Given the description of an element on the screen output the (x, y) to click on. 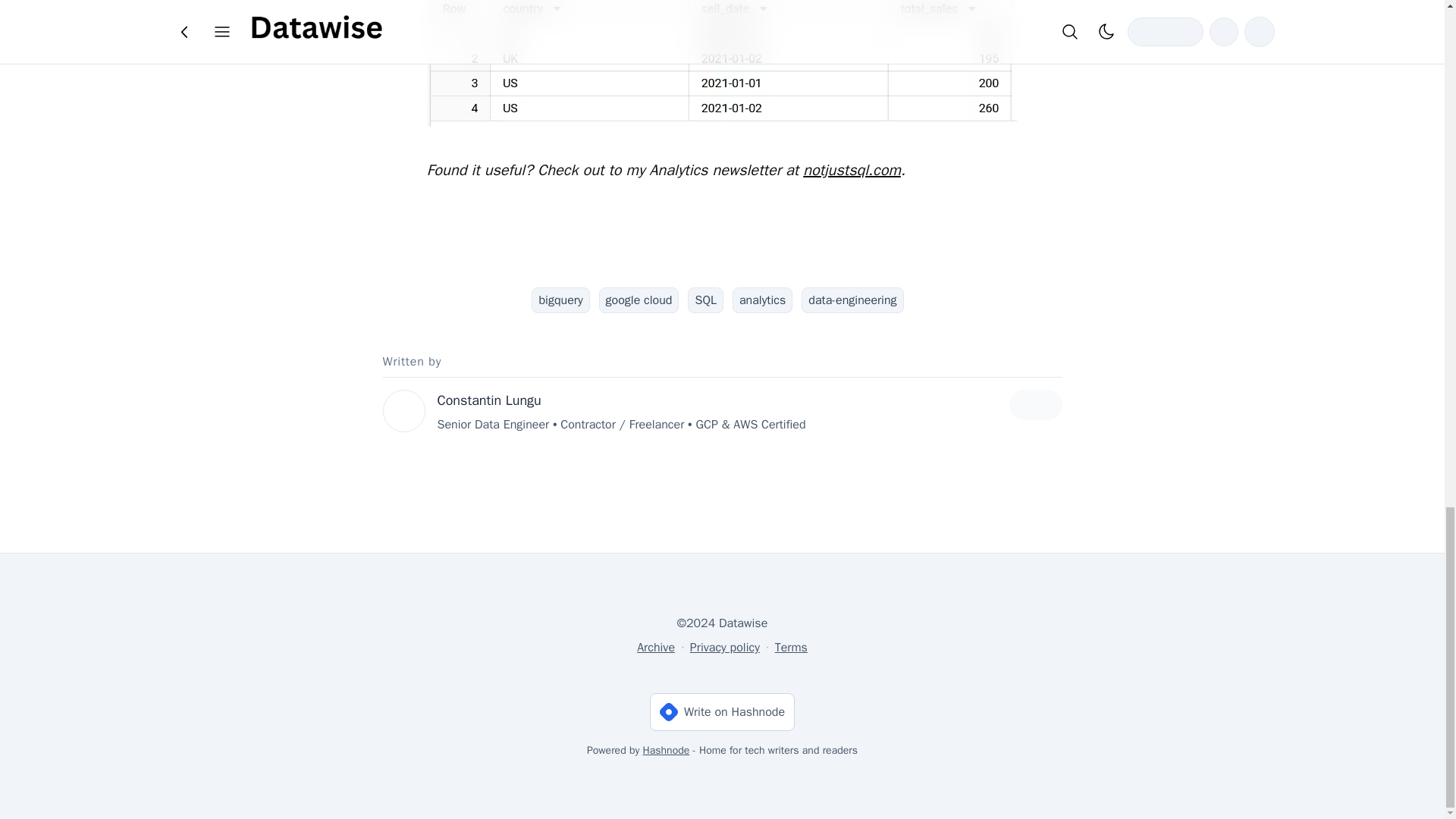
Privacy policy (725, 647)
analytics (762, 299)
data-engineering (852, 299)
bigquery (560, 299)
Terms (791, 647)
SQL (704, 299)
notjustsql.com (852, 169)
Constantin Lungu (488, 400)
google cloud (638, 299)
Write on Hashnode (721, 711)
Archive (656, 647)
